Given the description of an element on the screen output the (x, y) to click on. 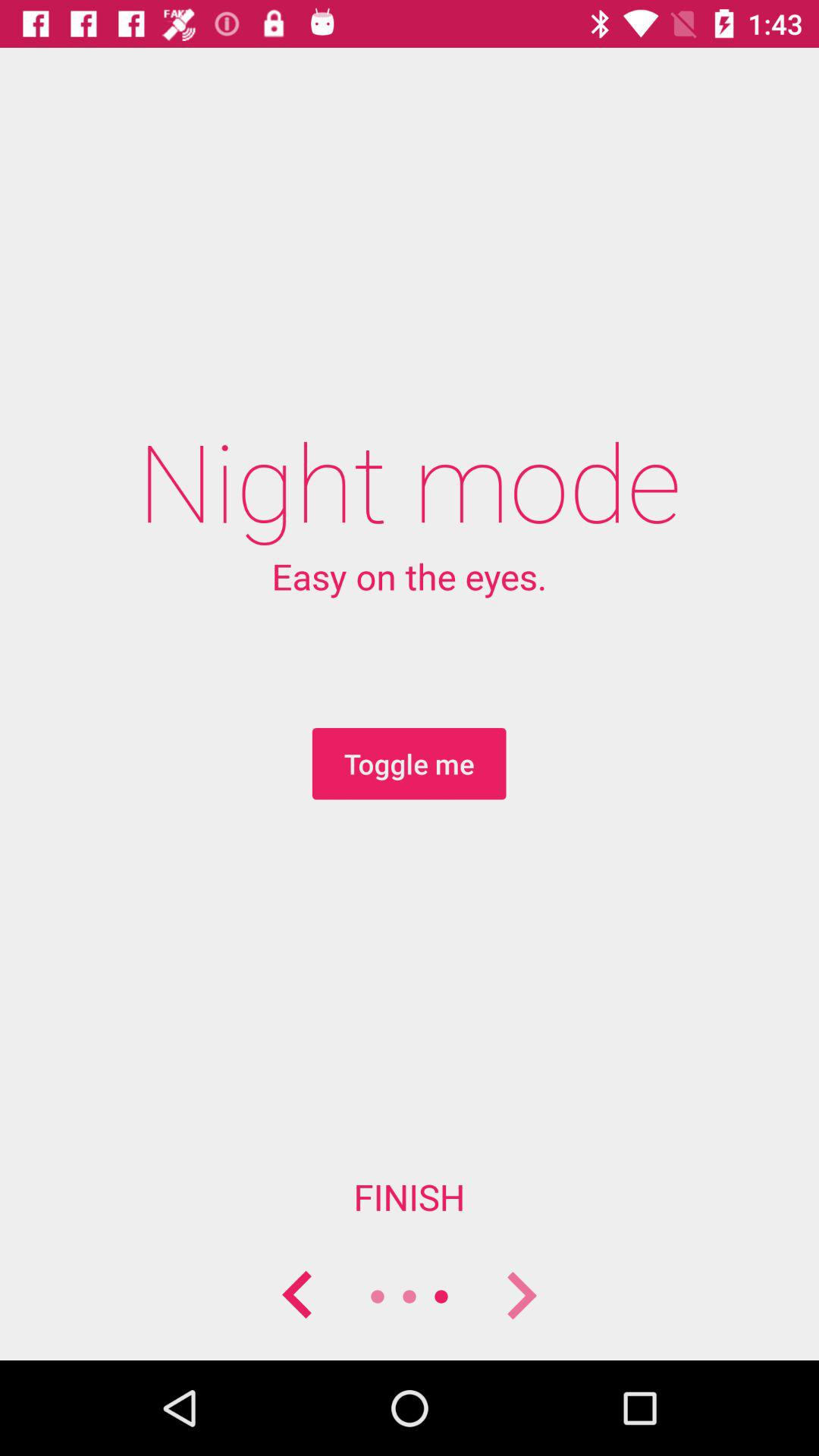
go to previous (297, 1296)
